Given the description of an element on the screen output the (x, y) to click on. 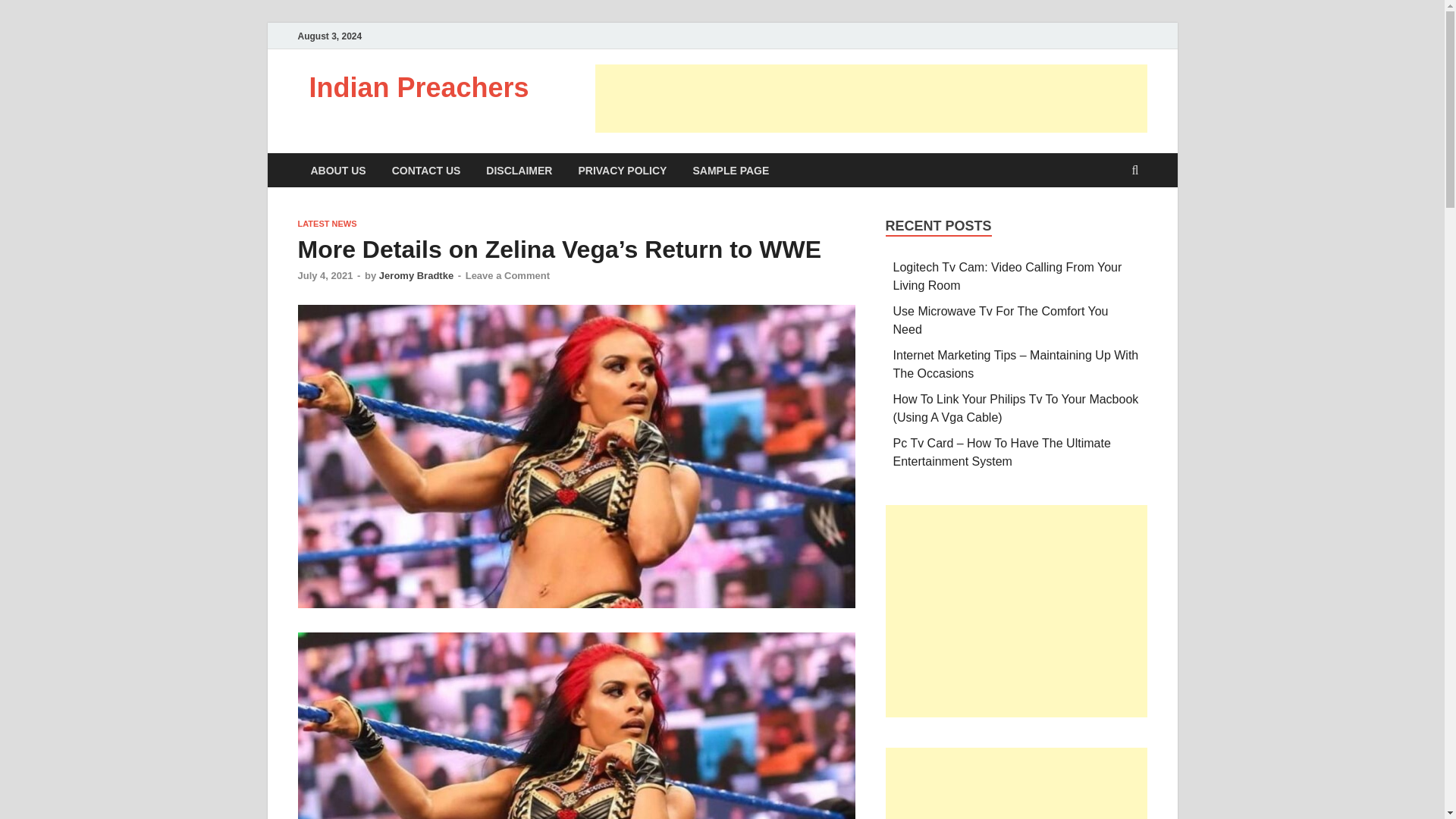
LATEST NEWS (326, 223)
DISCLAIMER (518, 170)
Jeromy Bradtke (415, 275)
PRIVACY POLICY (621, 170)
Logitech Tv Cam: Video Calling From Your Living Room (1007, 276)
Leave a Comment (507, 275)
Use Microwave Tv For The Comfort You Need (1000, 319)
Advertisement (1016, 783)
Indian Preachers (418, 87)
CONTACT US (426, 170)
Advertisement (870, 98)
SAMPLE PAGE (730, 170)
ABOUT US (337, 170)
July 4, 2021 (324, 275)
Advertisement (1016, 611)
